Given the description of an element on the screen output the (x, y) to click on. 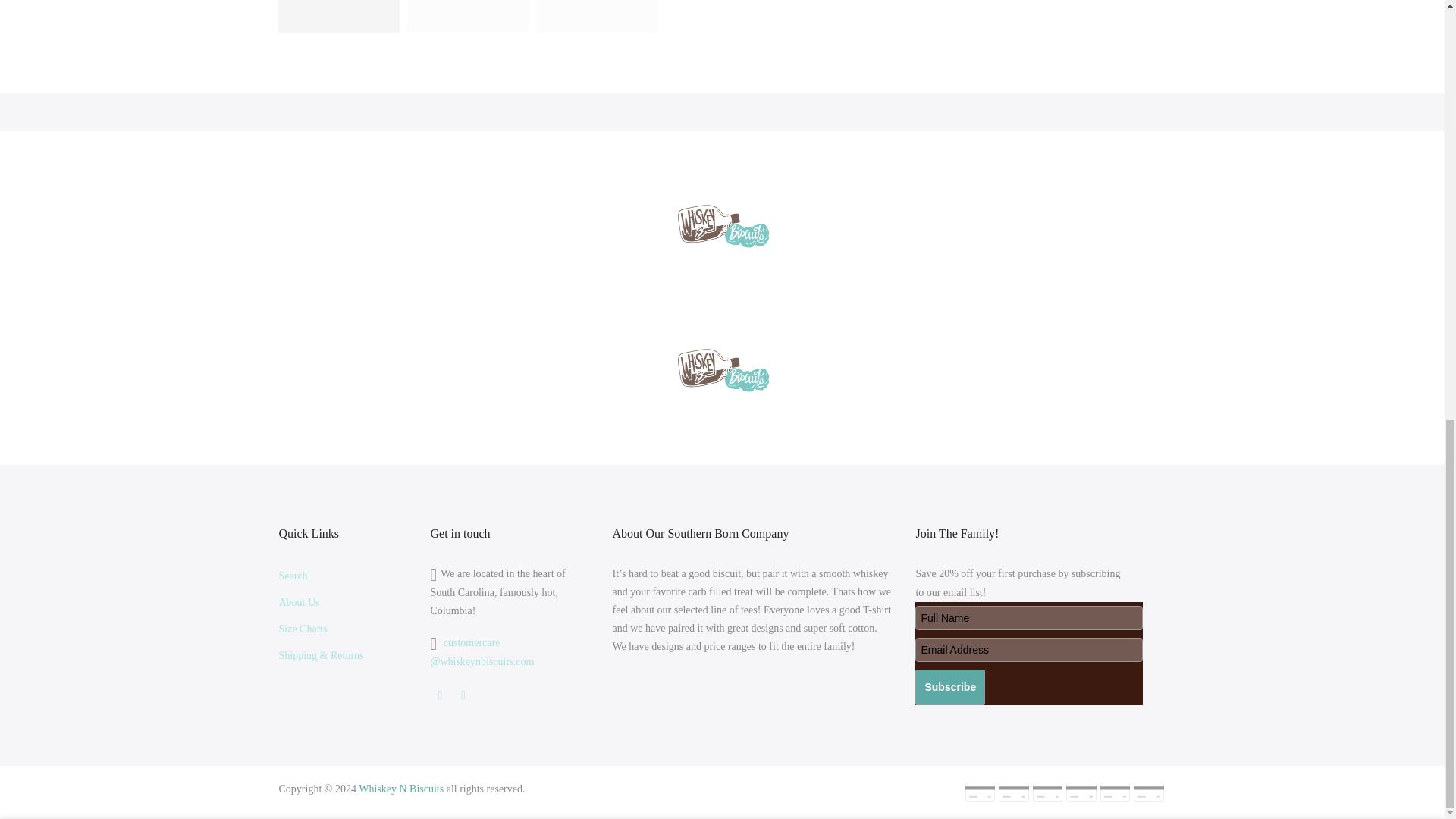
About Us (299, 602)
1 (1001, 2)
Search (293, 575)
Size Charts (303, 628)
Subscribe (950, 686)
